Given the description of an element on the screen output the (x, y) to click on. 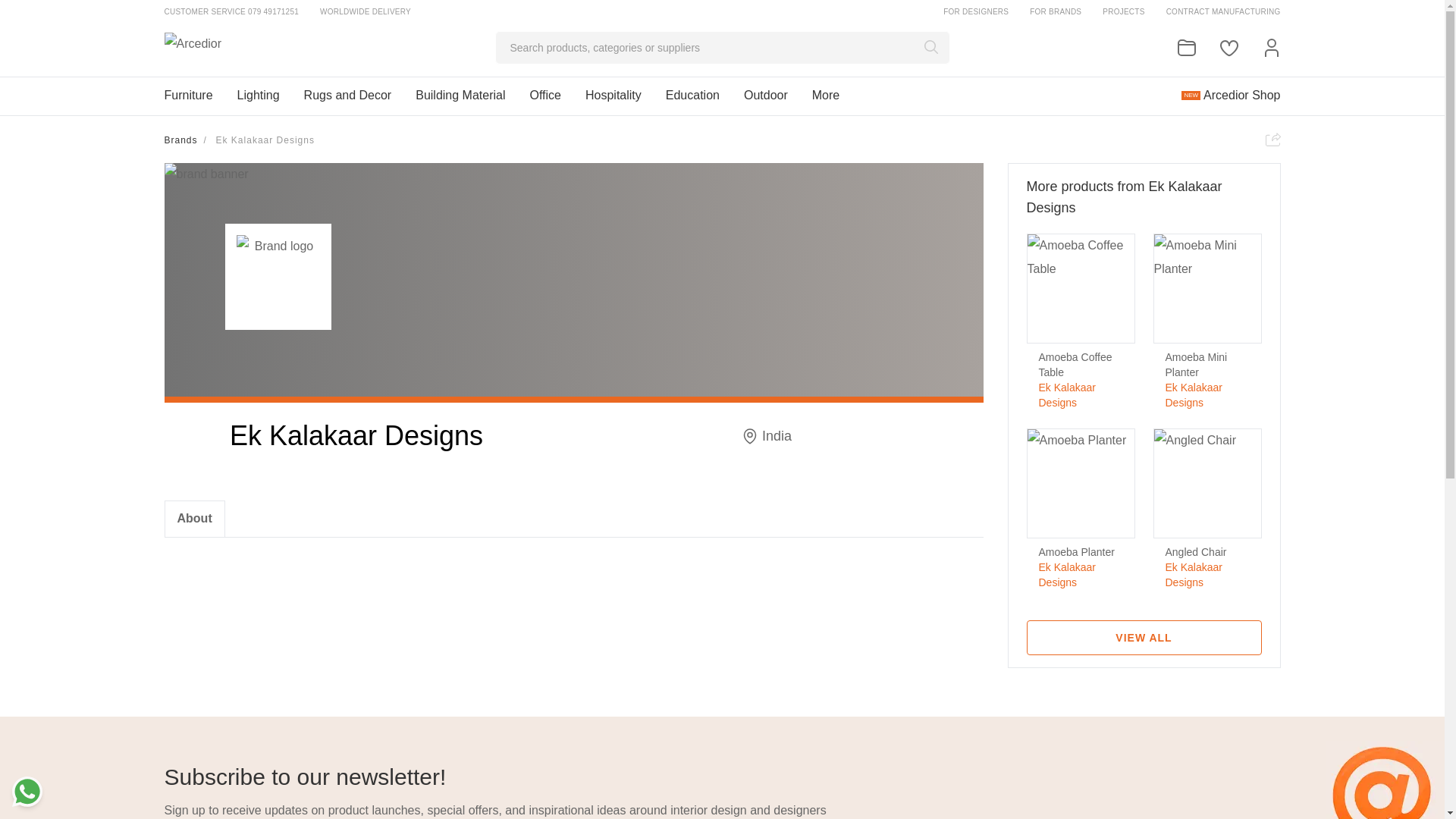
079 49171251 (272, 11)
Project BOQs (1185, 47)
Search (930, 47)
Favourites (1228, 47)
CONTRACT MANUFACTURING (1223, 11)
PROJECTS (1123, 11)
Sign in (1270, 47)
FOR DESIGNERS (976, 11)
FOR BRANDS (1055, 11)
